Given the description of an element on the screen output the (x, y) to click on. 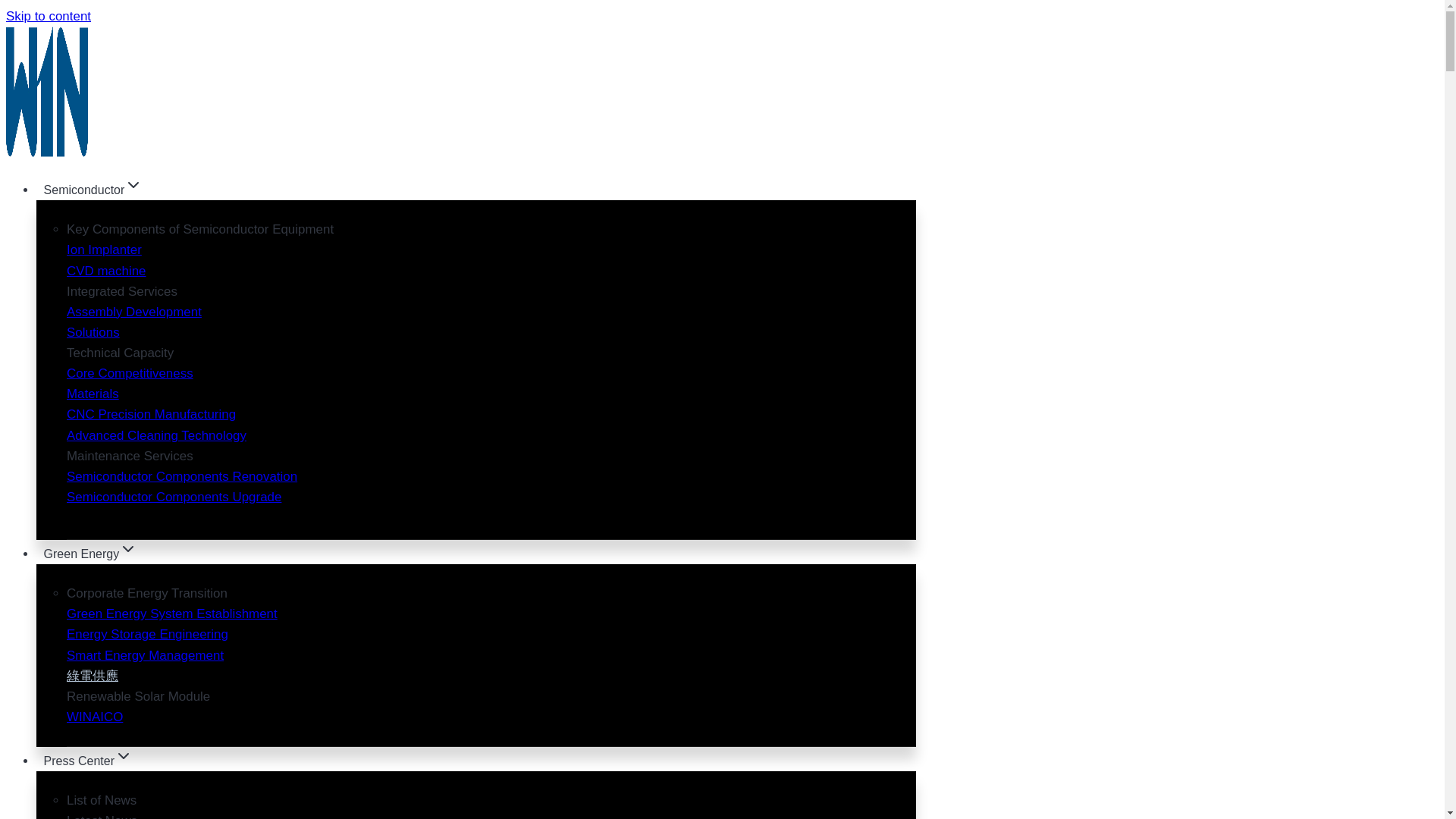
Latest News (101, 816)
WINAICO (94, 716)
Skip to content (47, 16)
Expand (127, 548)
Solutions (92, 332)
Core Competitiveness (129, 373)
CNC Precision Manufacturing (150, 414)
Green EnergyExpand (90, 553)
Ion Implanter (103, 249)
Energy Storage Engineering (147, 634)
